Given the description of an element on the screen output the (x, y) to click on. 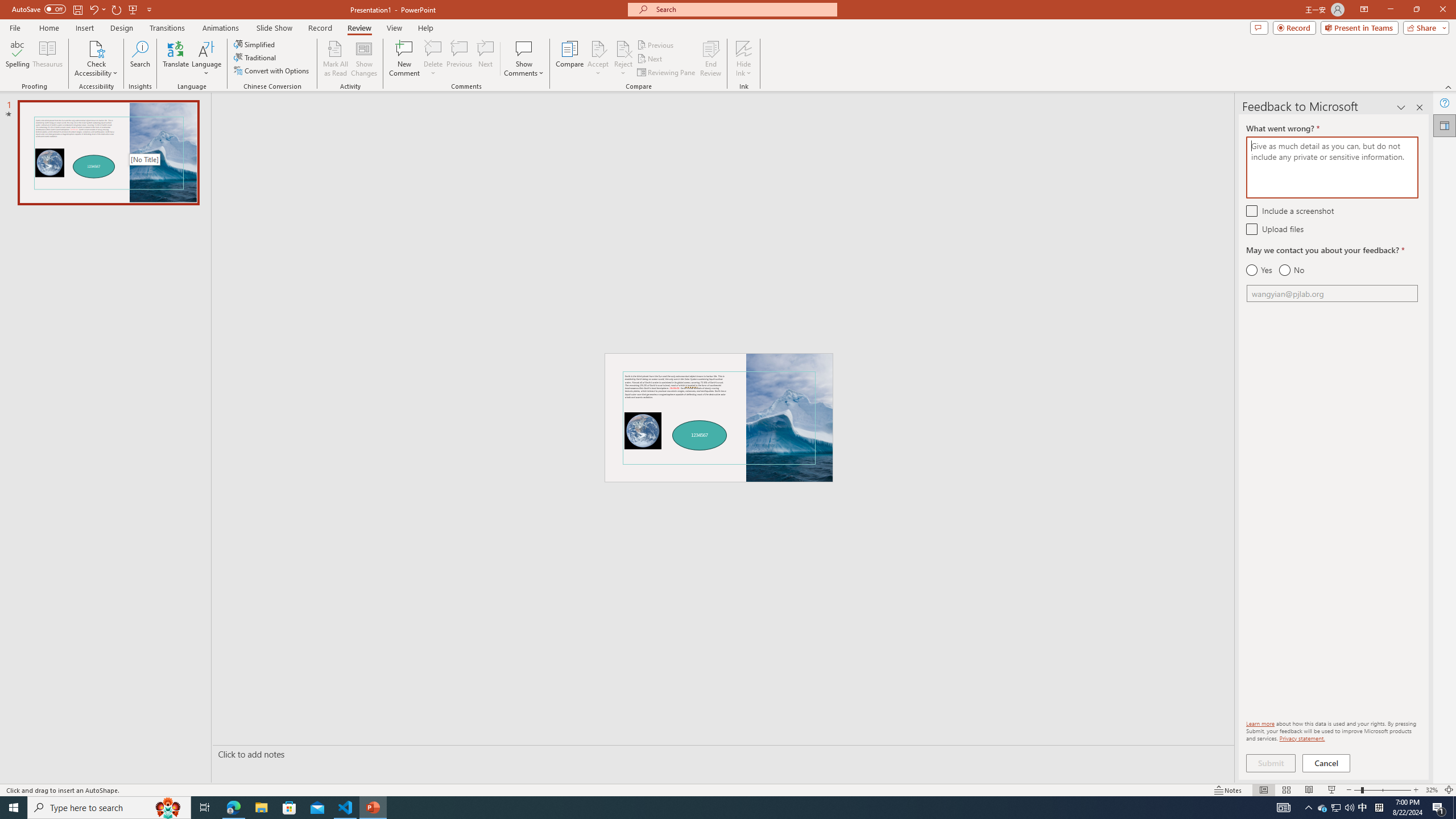
Next (649, 58)
End Review (710, 58)
Convert with Options... (272, 69)
Previous (655, 44)
Spelling... (17, 58)
Show Changes (363, 58)
Compare (569, 58)
Accept Change (598, 48)
Reject (622, 58)
